Given the description of an element on the screen output the (x, y) to click on. 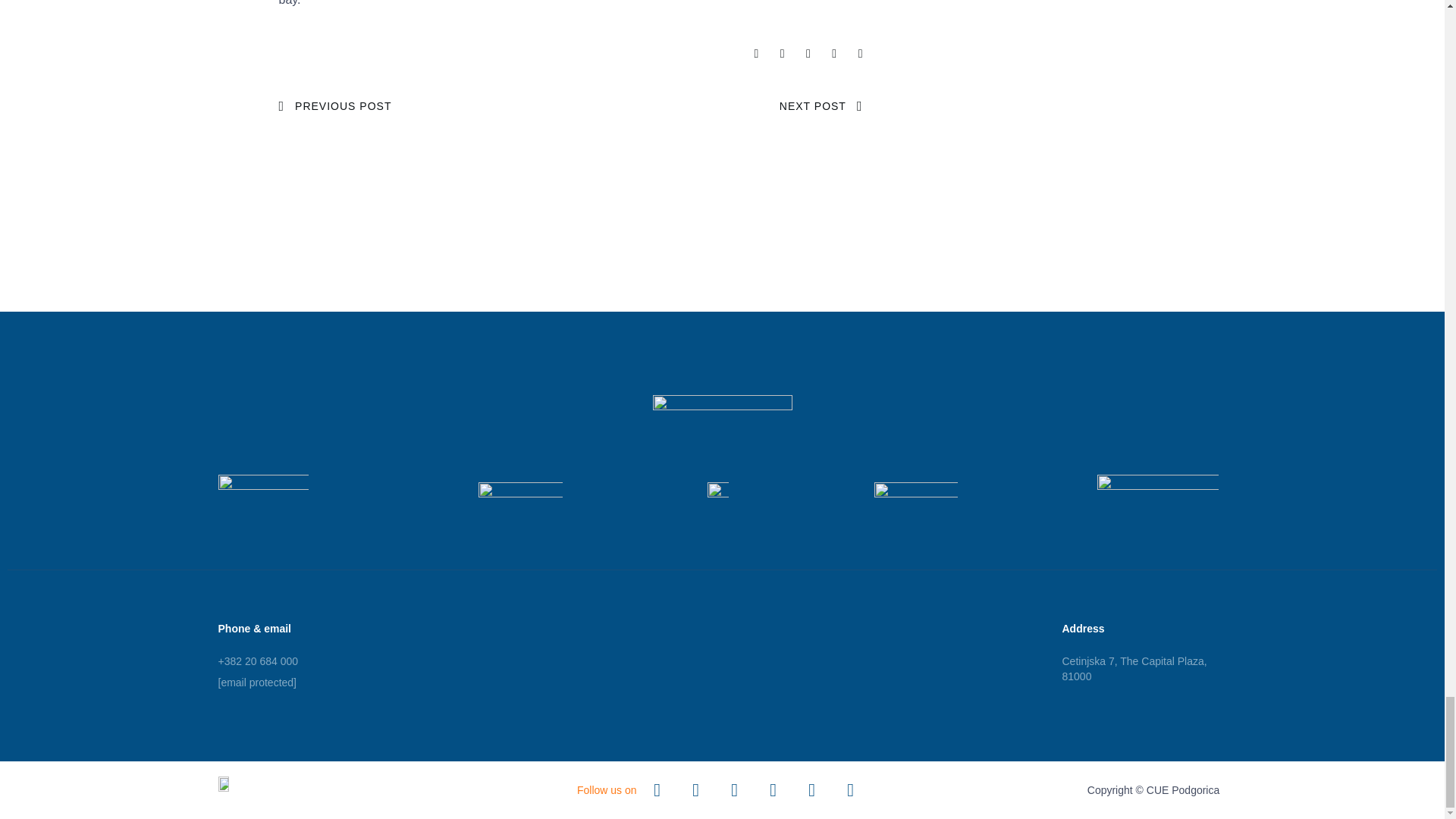
NEXT POST (820, 105)
PREVIOUS POST (335, 105)
